Given the description of an element on the screen output the (x, y) to click on. 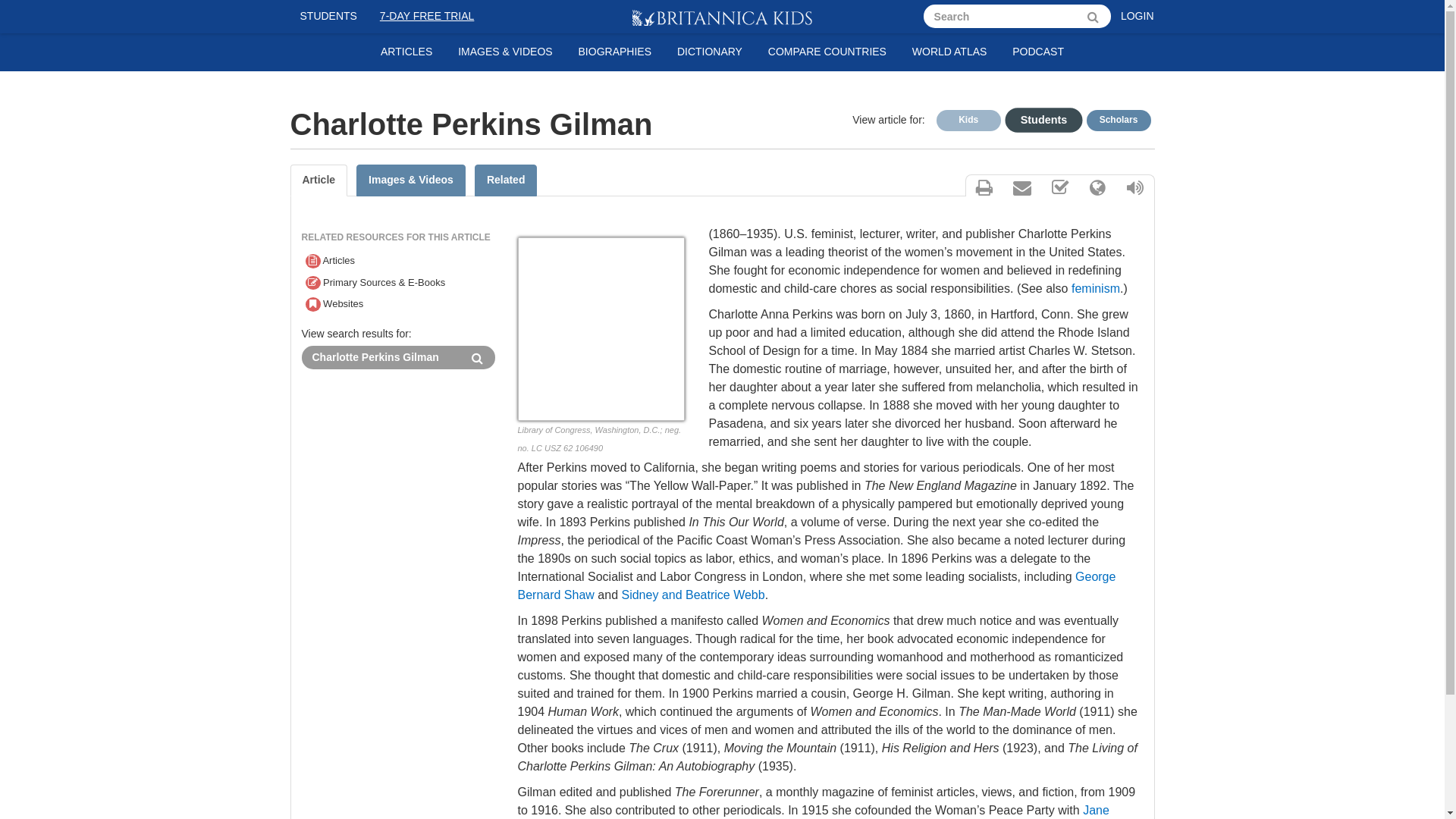
Grade 9 and Up (1118, 119)
Charlotte Perkins Gilman (381, 357)
Charlotte Perkins Gilman (381, 357)
Grades 6-8 (1036, 118)
STUDENTS (327, 16)
